Given the description of an element on the screen output the (x, y) to click on. 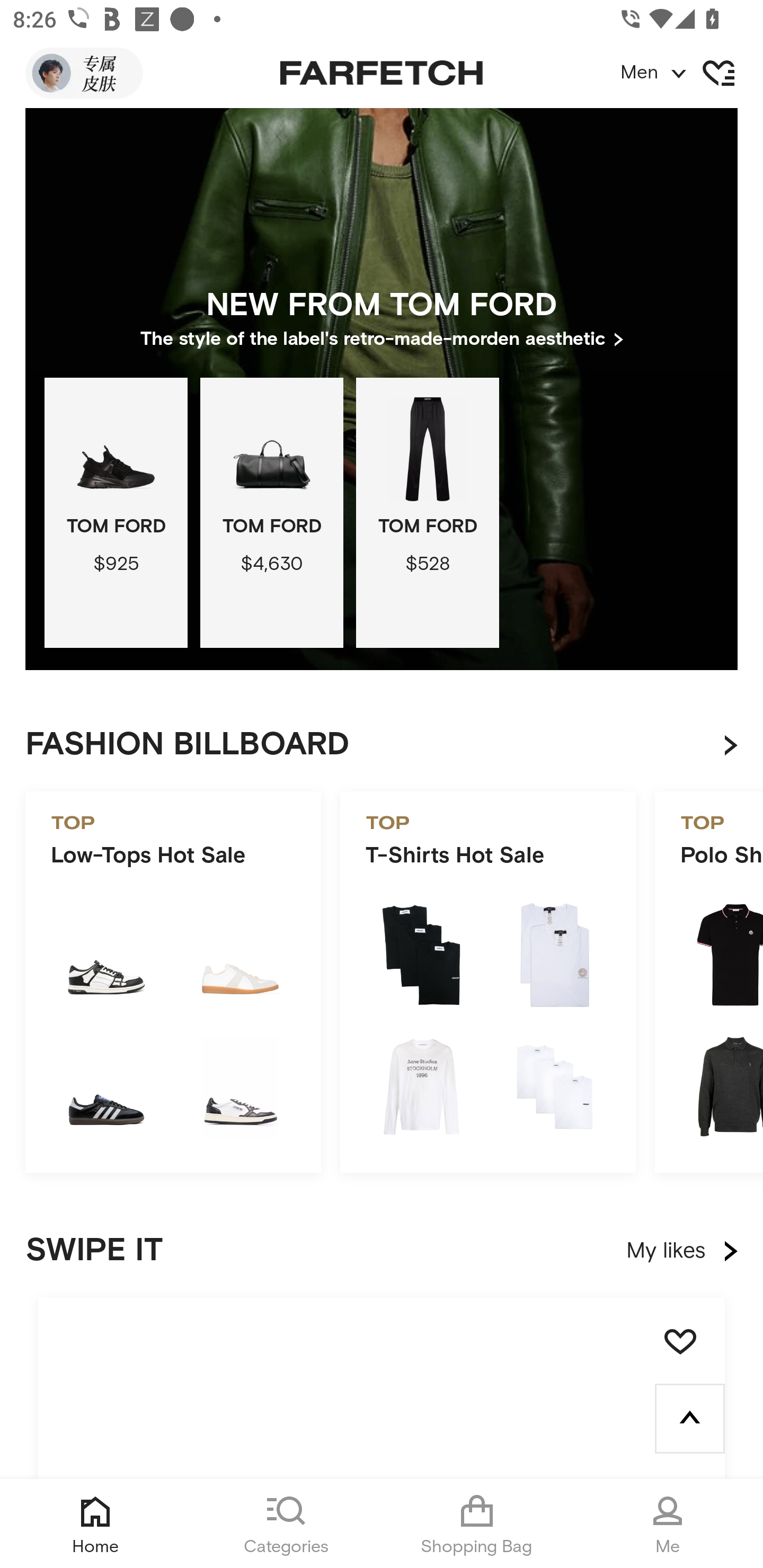
Men (691, 72)
TOM FORD $925 (115, 512)
TOM FORD $4,630 (271, 512)
TOM FORD $528 (427, 512)
FASHION BILLBOARD (394, 745)
Low-Tops Hot Sale (173, 981)
T-Shirts Hot Sale (487, 981)
SWIPE IT My likes (381, 1250)
Categories (285, 1523)
Shopping Bag (476, 1523)
Me (667, 1523)
